Given the description of an element on the screen output the (x, y) to click on. 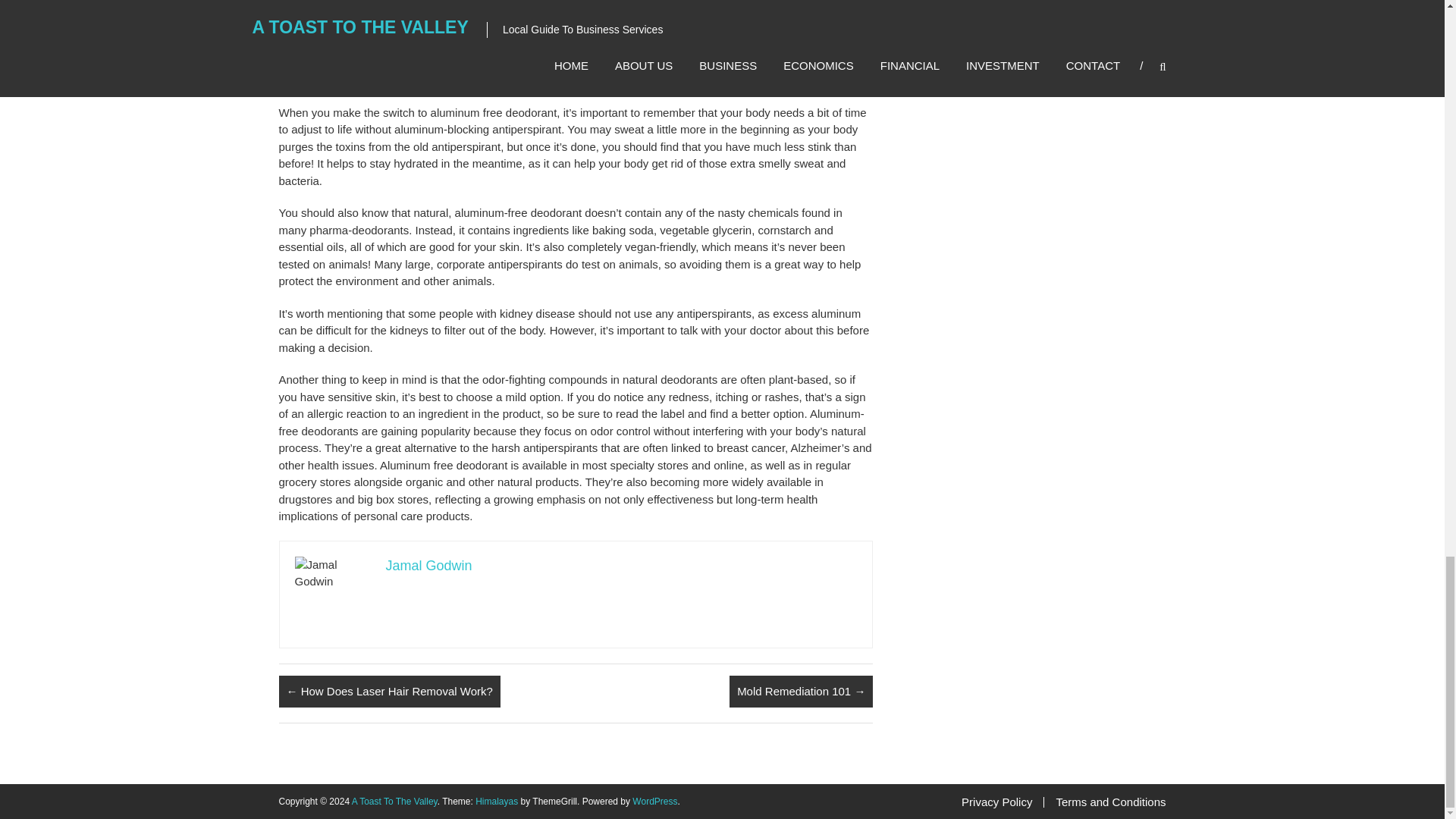
Himalayas (497, 801)
A Toast To The Valley (395, 801)
Jamal Godwin (428, 565)
WordPress (654, 801)
